Given the description of an element on the screen output the (x, y) to click on. 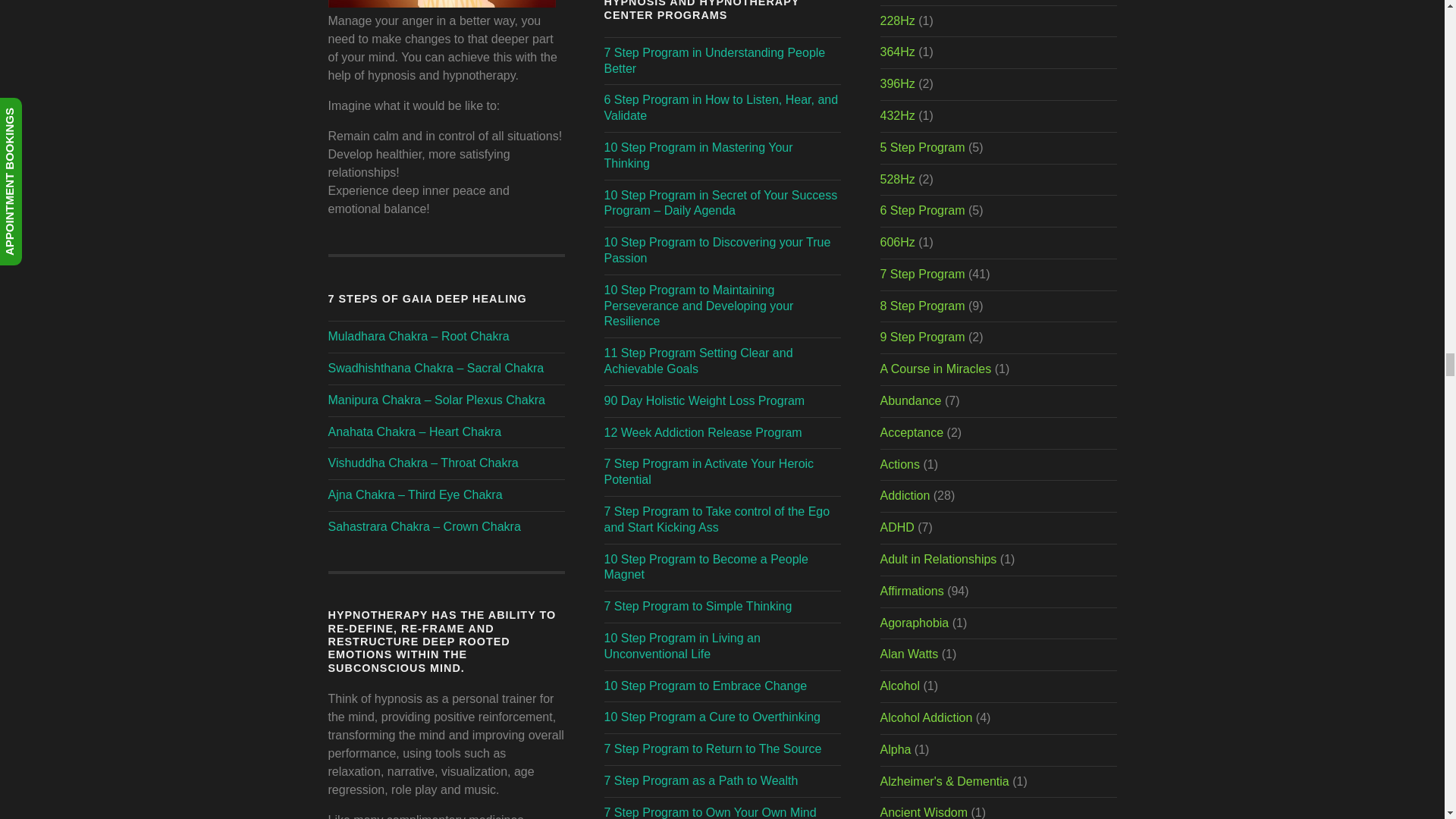
Click Here! Anger Management with Hypnosis (440, 4)
